Given the description of an element on the screen output the (x, y) to click on. 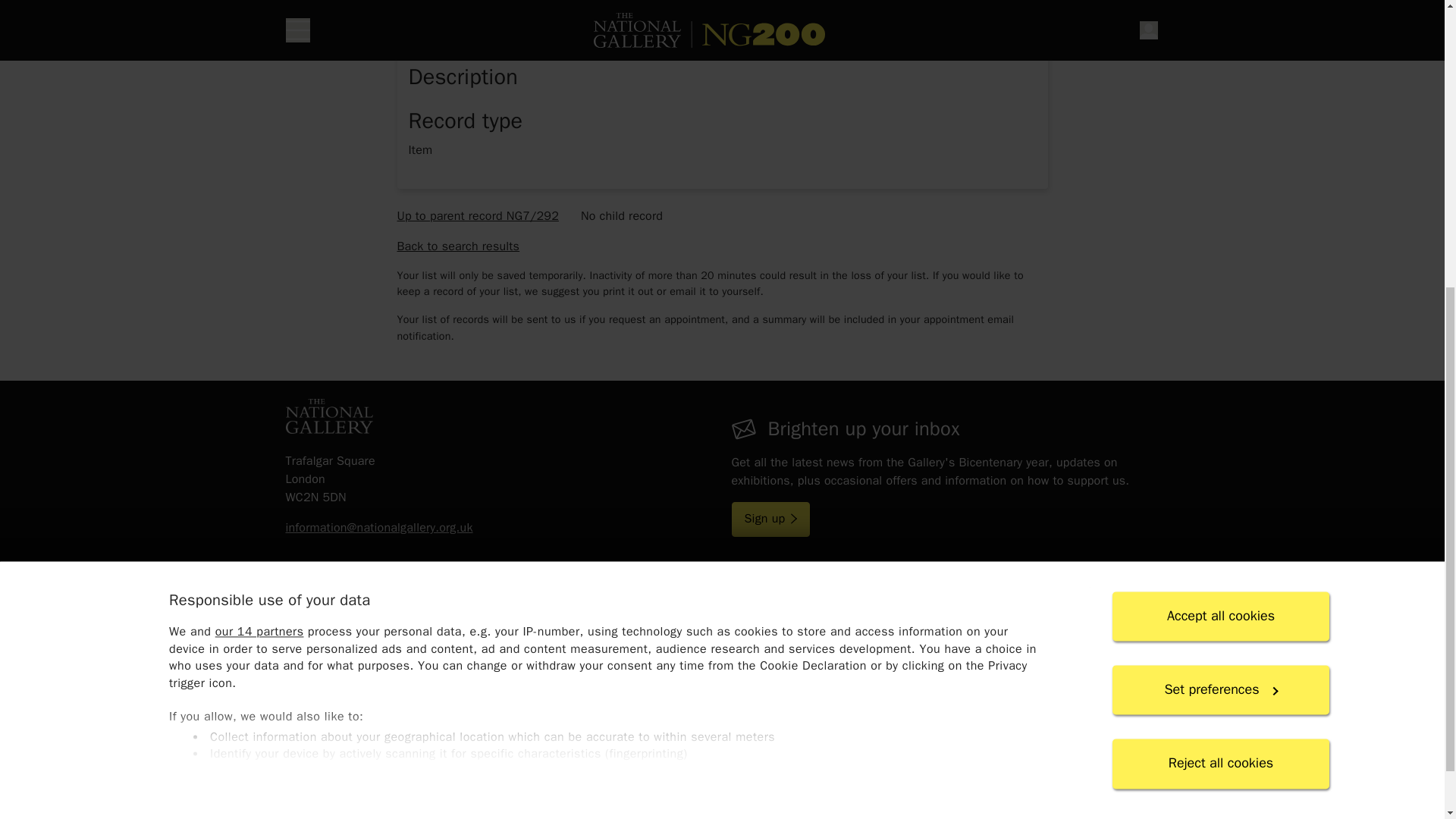
our 14 partners (258, 164)
cookies policy (596, 365)
details section (720, 305)
